Given the description of an element on the screen output the (x, y) to click on. 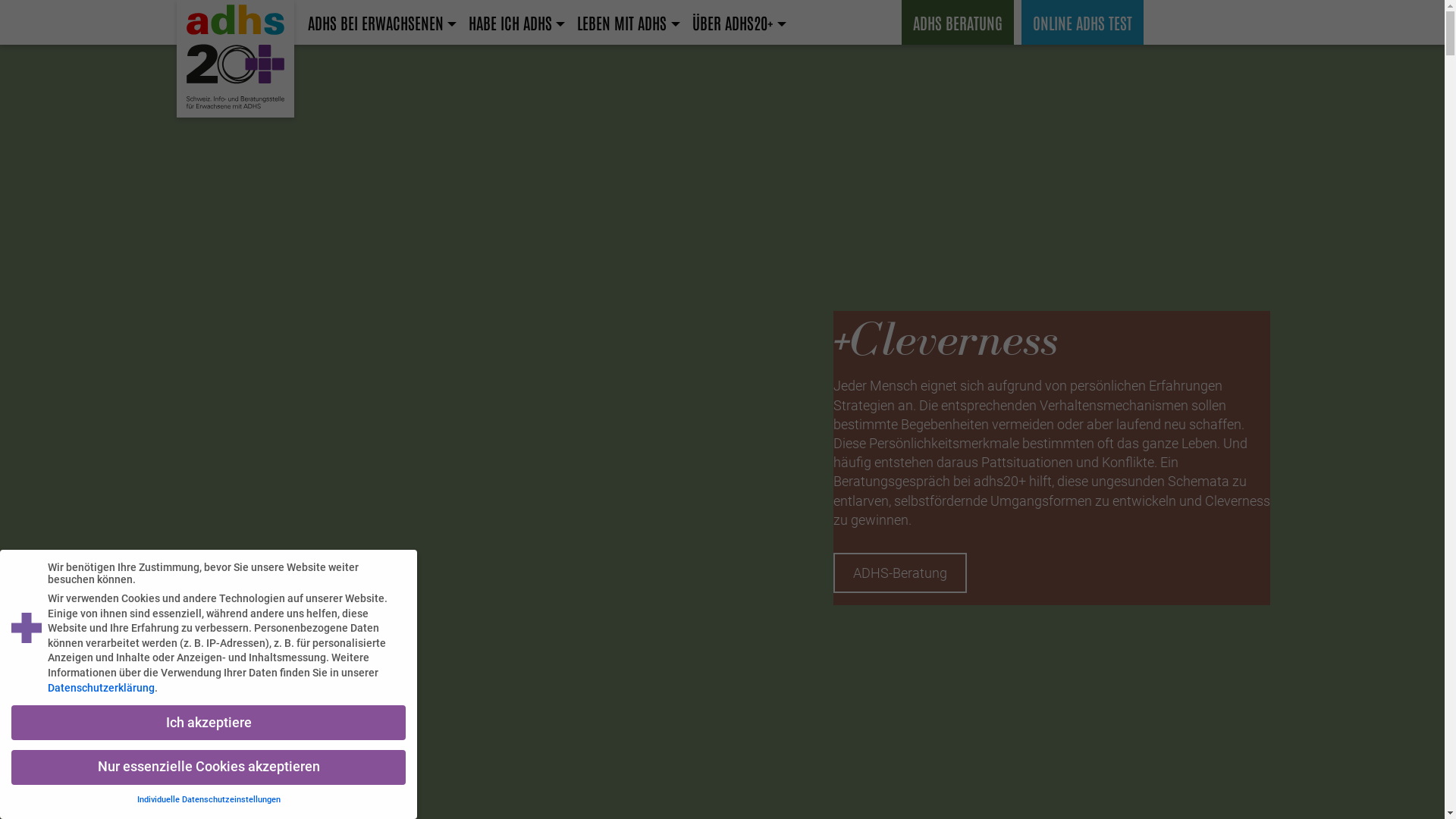
Ich akzeptiere Element type: text (208, 722)
ADHS BEI ERWACHSENEN Element type: text (381, 22)
ADHS-Beratung Element type: text (899, 553)
HABE ICH ADHS Element type: text (516, 22)
LEBEN MIT ADHS Element type: text (628, 22)
Individuelle Datenschutzeinstellungen Element type: text (207, 799)
Nur essenzielle Cookies akzeptieren Element type: text (208, 766)
ONLINE ADHS TEST Element type: text (1081, 22)
ADHS-Beratung Element type: text (899, 572)
ADHS BERATUNG Element type: text (956, 22)
